Given the description of an element on the screen output the (x, y) to click on. 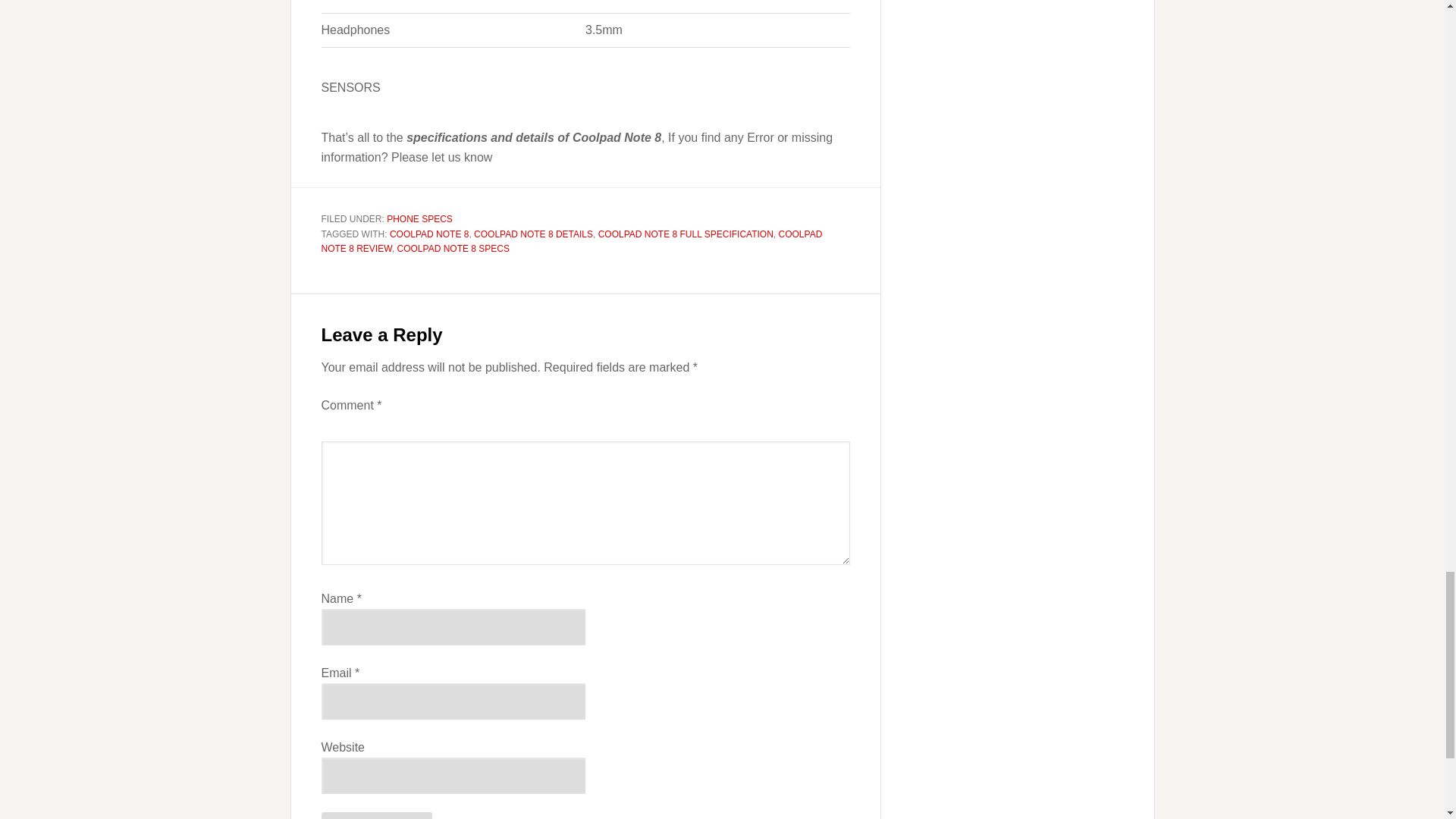
COOLPAD NOTE 8 FULL SPECIFICATION (685, 234)
COOLPAD NOTE 8 REVIEW (571, 241)
COOLPAD NOTE 8 SPECS (453, 248)
COOLPAD NOTE 8 DETAILS (533, 234)
Post Comment (376, 815)
PHONE SPECS (419, 218)
Post Comment (376, 815)
COOLPAD NOTE 8 (429, 234)
